Given the description of an element on the screen output the (x, y) to click on. 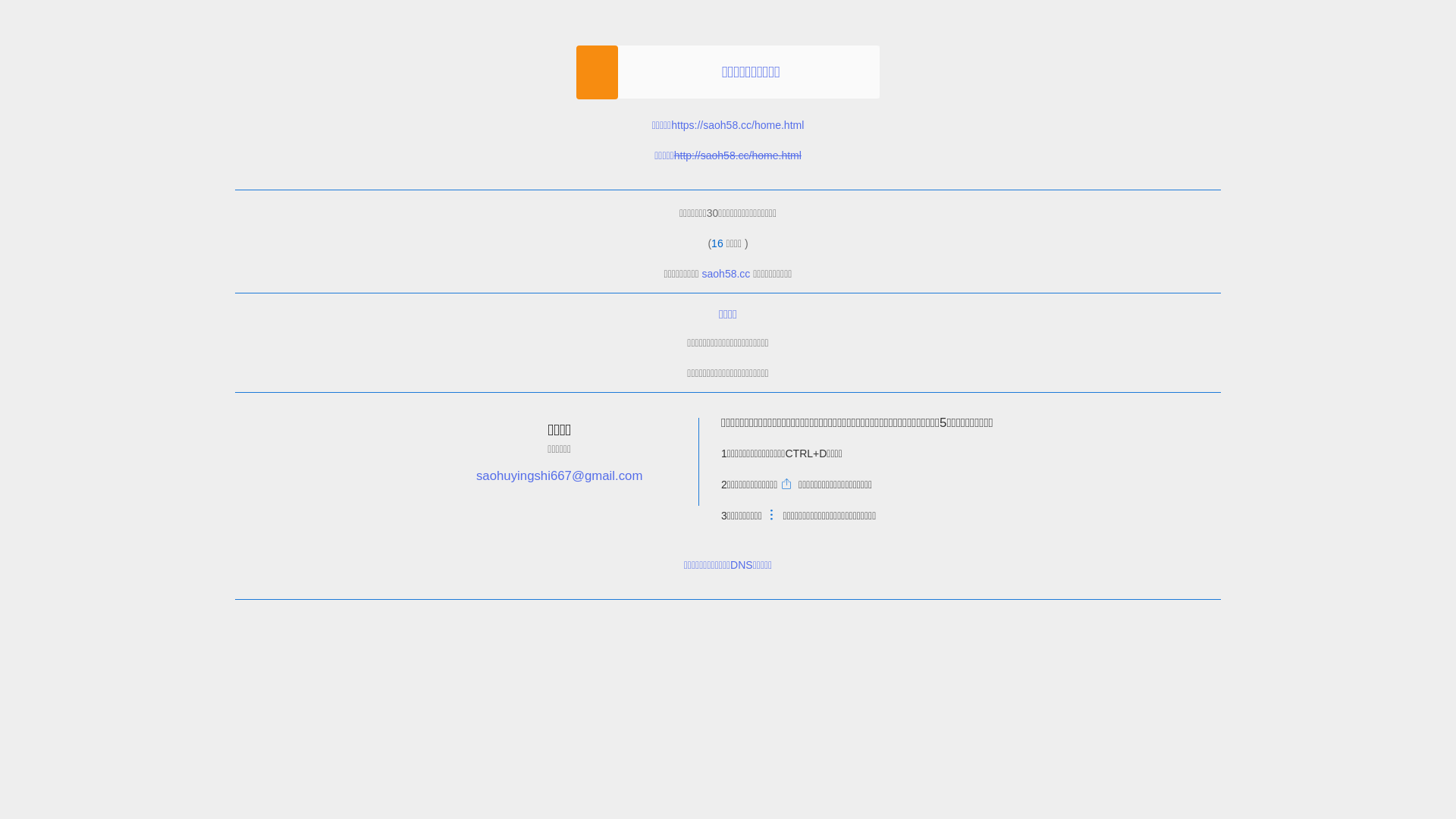
saoh58.cc Element type: text (726, 273)
